Given the description of an element on the screen output the (x, y) to click on. 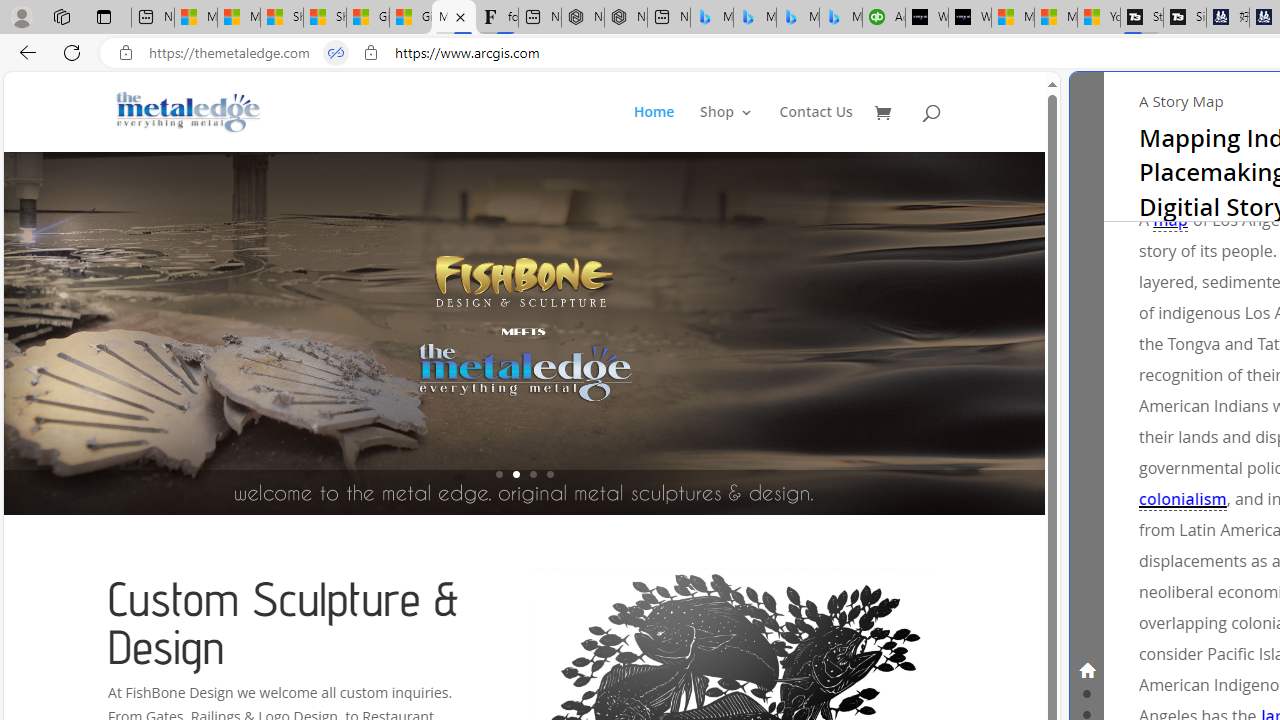
4 (550, 474)
3 (532, 474)
Shop3 (737, 128)
Tabs in split screen (335, 53)
Microsoft Bing Travel - Shangri-La Hotel Bangkok (840, 17)
Go to section 2: Mapping Indigenous LA  (1086, 691)
